Given the description of an element on the screen output the (x, y) to click on. 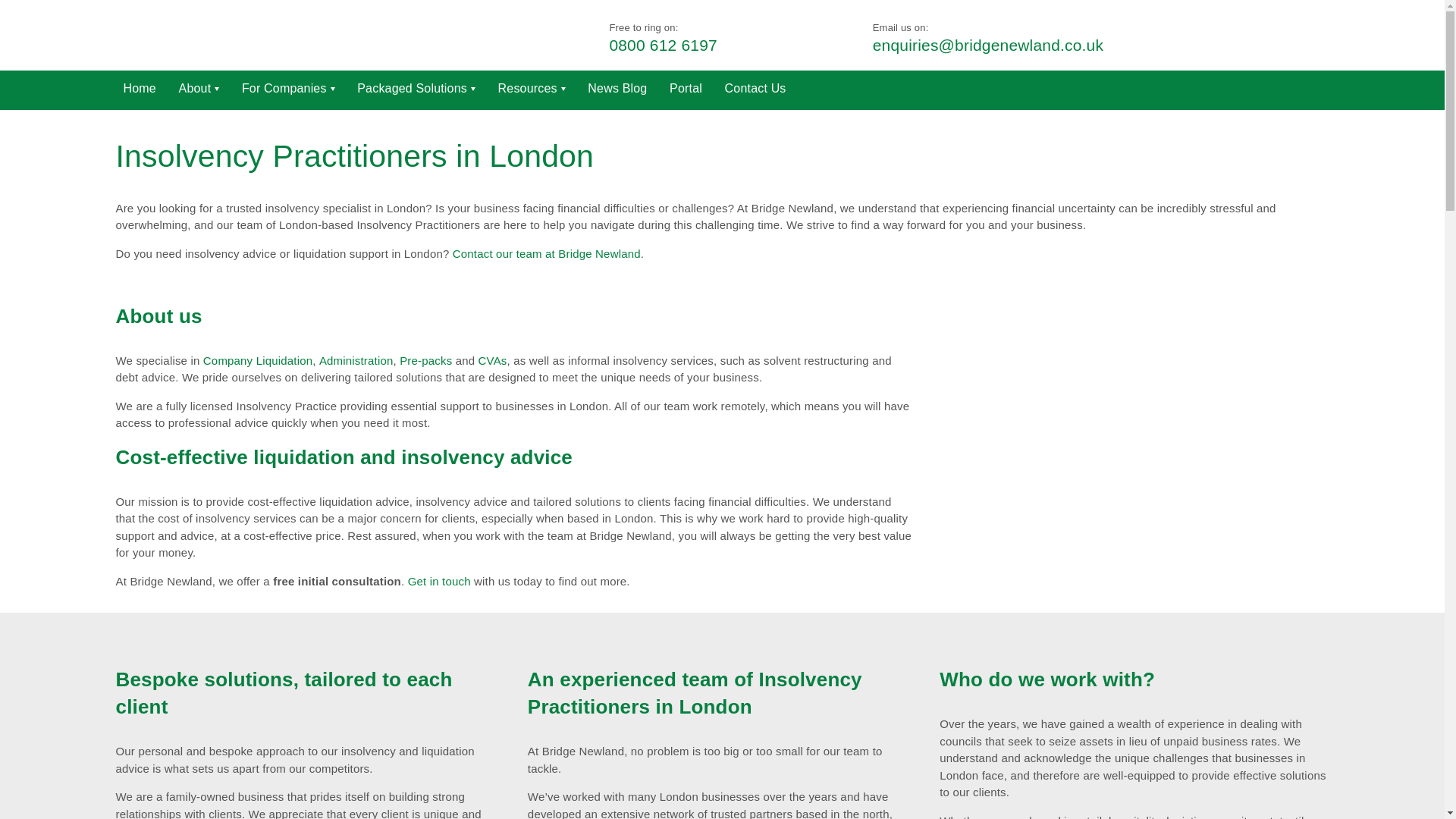
For Companies (288, 88)
0800 612 6197 (662, 45)
Home (139, 88)
Packaged Solutions (416, 88)
Resources (531, 88)
About (199, 88)
News Blog (616, 88)
Contact Us (755, 88)
Contact our team at Bridge Newland (546, 254)
